Given the description of an element on the screen output the (x, y) to click on. 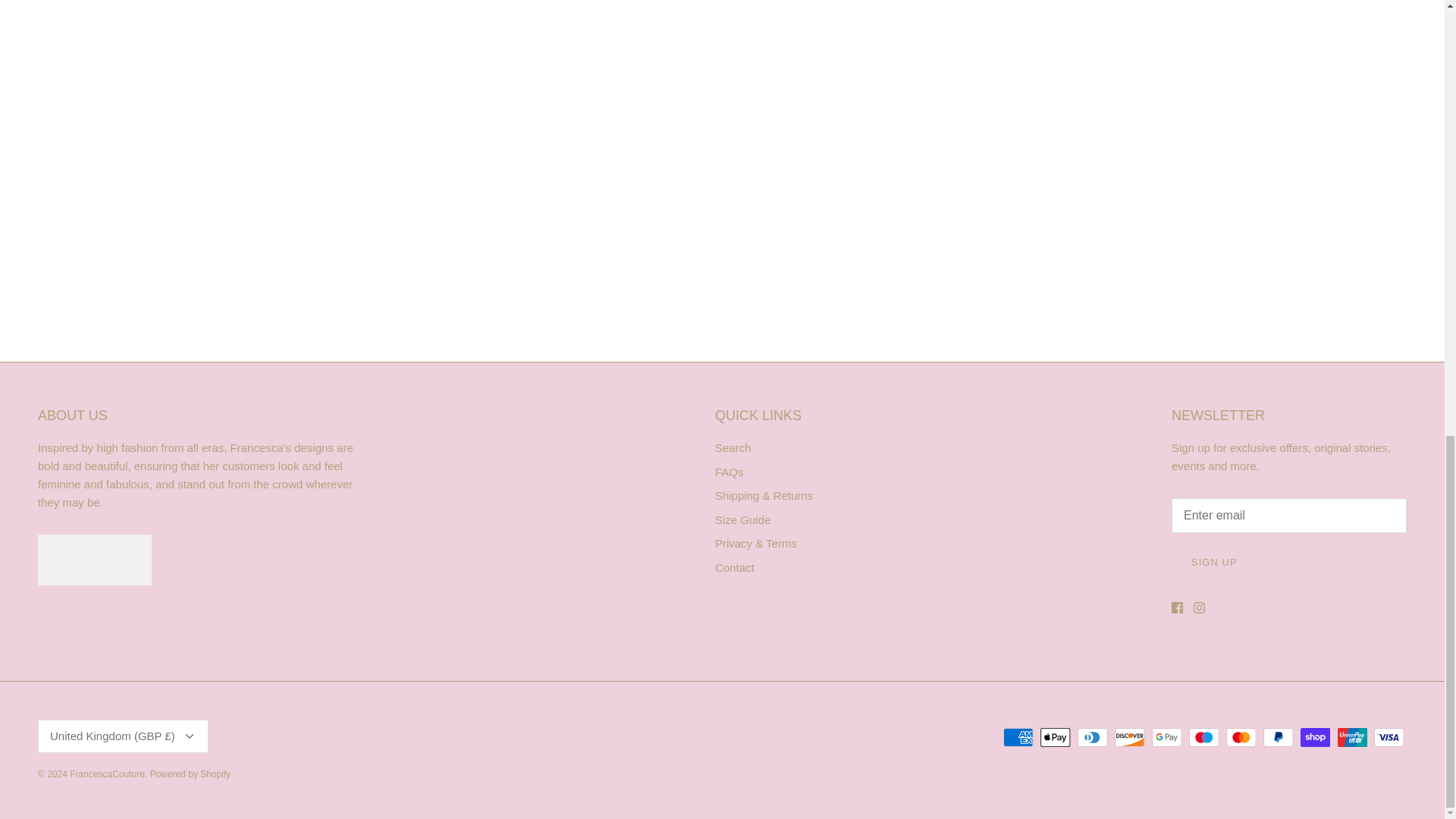
Diners Club (1092, 737)
Mastercard (1240, 737)
Apple Pay (1055, 737)
Shop Pay (1315, 737)
American Express (1018, 737)
Down (189, 735)
Google Pay (1166, 737)
Facebook (1177, 607)
Maestro (1203, 737)
Visa (1388, 737)
Discover (1129, 737)
Union Pay (1352, 737)
PayPal (1277, 737)
Instagram (1199, 607)
